Given the description of an element on the screen output the (x, y) to click on. 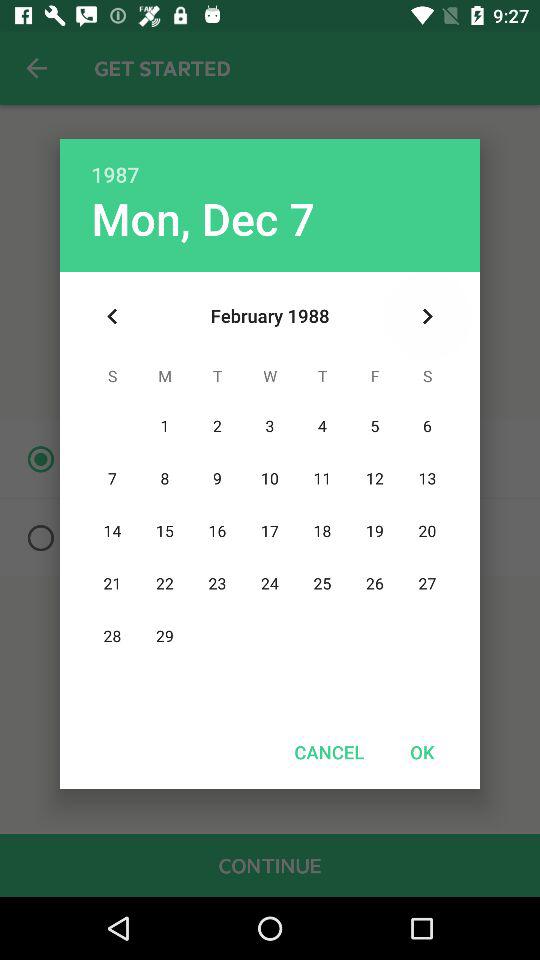
turn off the icon at the top left corner (112, 316)
